Given the description of an element on the screen output the (x, y) to click on. 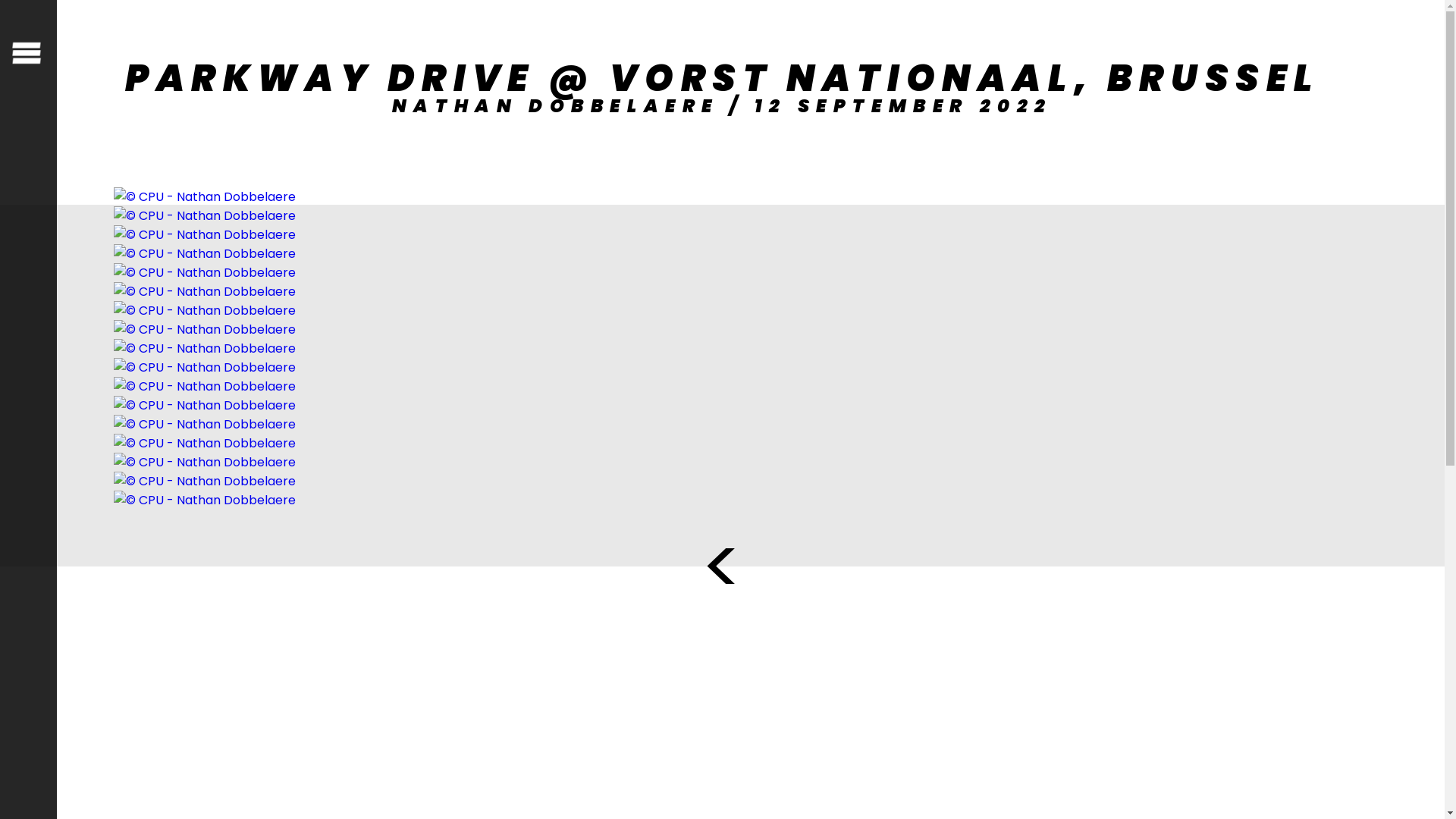
< Element type: text (721, 567)
